Given the description of an element on the screen output the (x, y) to click on. 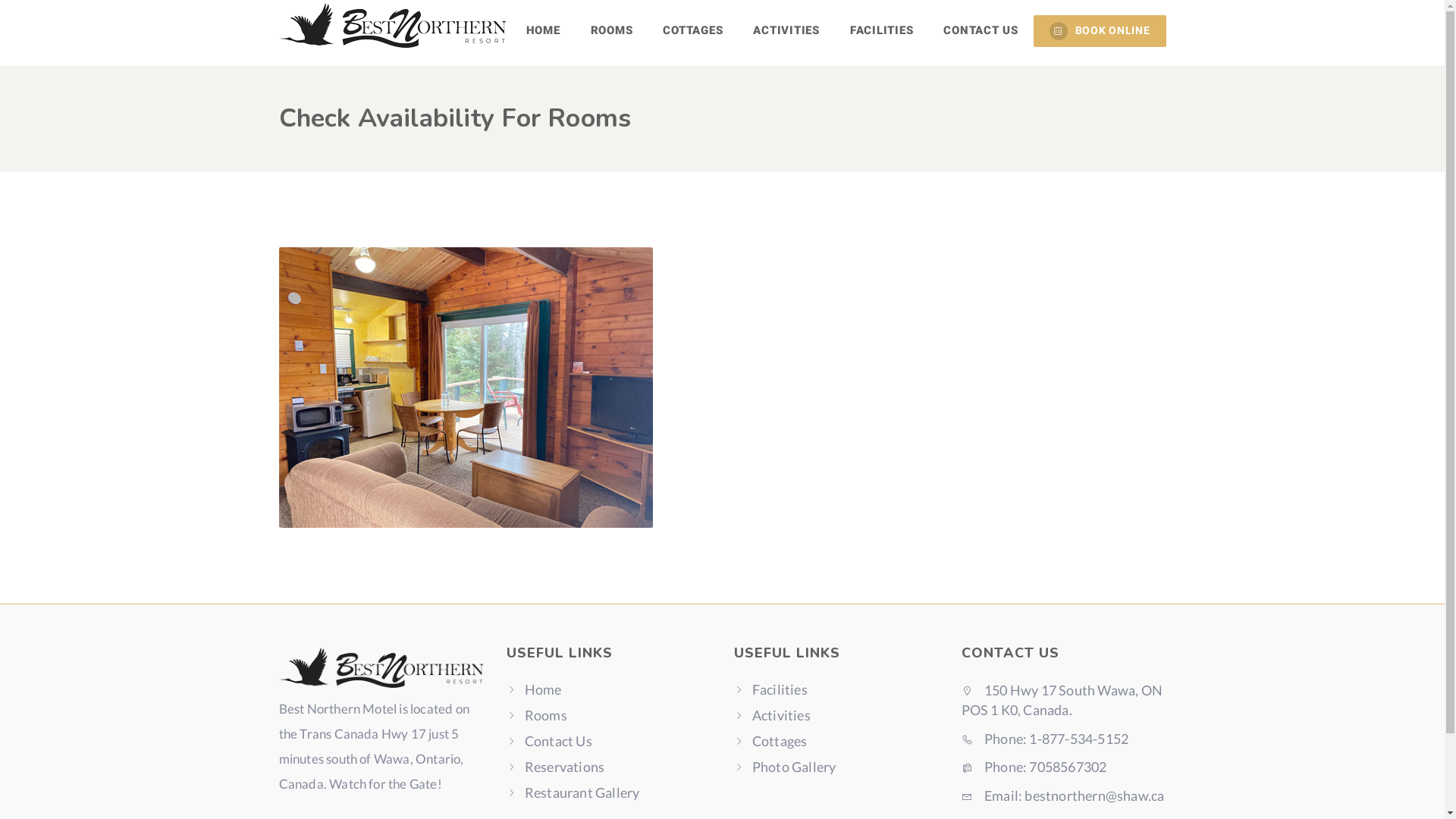
BOOK ONLINE Element type: text (1099, 31)
Photo Gallery Element type: text (794, 766)
FACILITIES Element type: text (881, 30)
HOME Element type: text (543, 30)
Home Element type: text (542, 688)
ROOMS Element type: text (611, 30)
COTTAGES Element type: text (692, 30)
Activities Element type: text (781, 714)
Restaurant Gallery Element type: text (582, 792)
Reservations Element type: text (564, 766)
ACTIVITIES Element type: text (785, 30)
Contact Us Element type: text (558, 740)
Rooms Element type: text (545, 714)
Cottages Element type: text (779, 740)
Facilities Element type: text (779, 688)
CONTACT US Element type: text (980, 30)
